Given the description of an element on the screen output the (x, y) to click on. 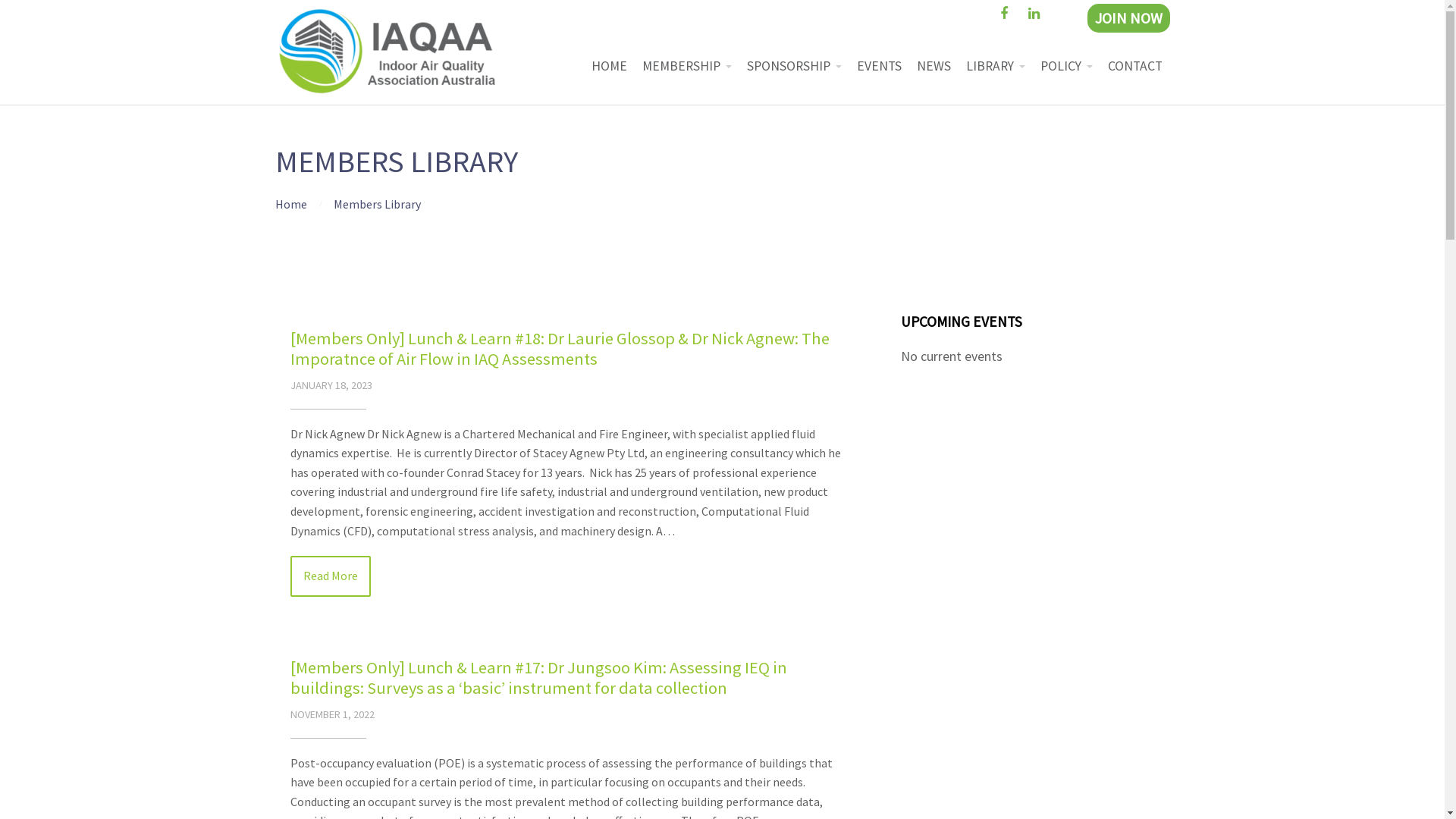
Read More Element type: text (329, 575)
LIBRARY Element type: text (995, 65)
Home Element type: text (290, 203)
EVENTS Element type: text (879, 65)
POLICY Element type: text (1066, 65)
Members Library Element type: text (376, 203)
MEMBERSHIP Element type: text (685, 65)
NEWS Element type: text (932, 65)
CONTACT Element type: text (1134, 65)
HOME Element type: text (608, 65)
JOIN NOW Element type: text (1128, 17)
SPONSORSHIP Element type: text (793, 65)
